Given the description of an element on the screen output the (x, y) to click on. 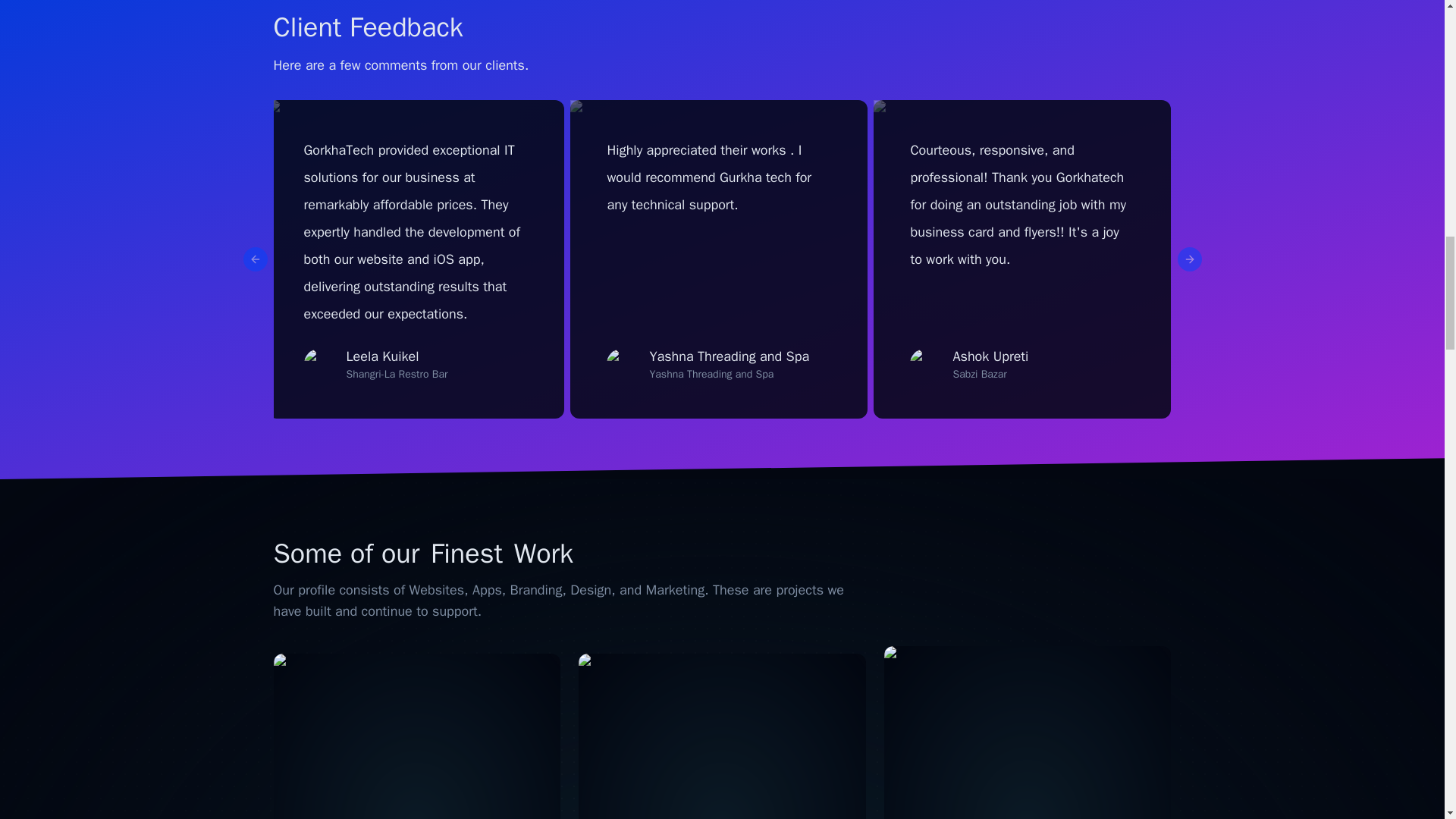
Next slide (1188, 259)
Previous slide (254, 259)
